Given the description of an element on the screen output the (x, y) to click on. 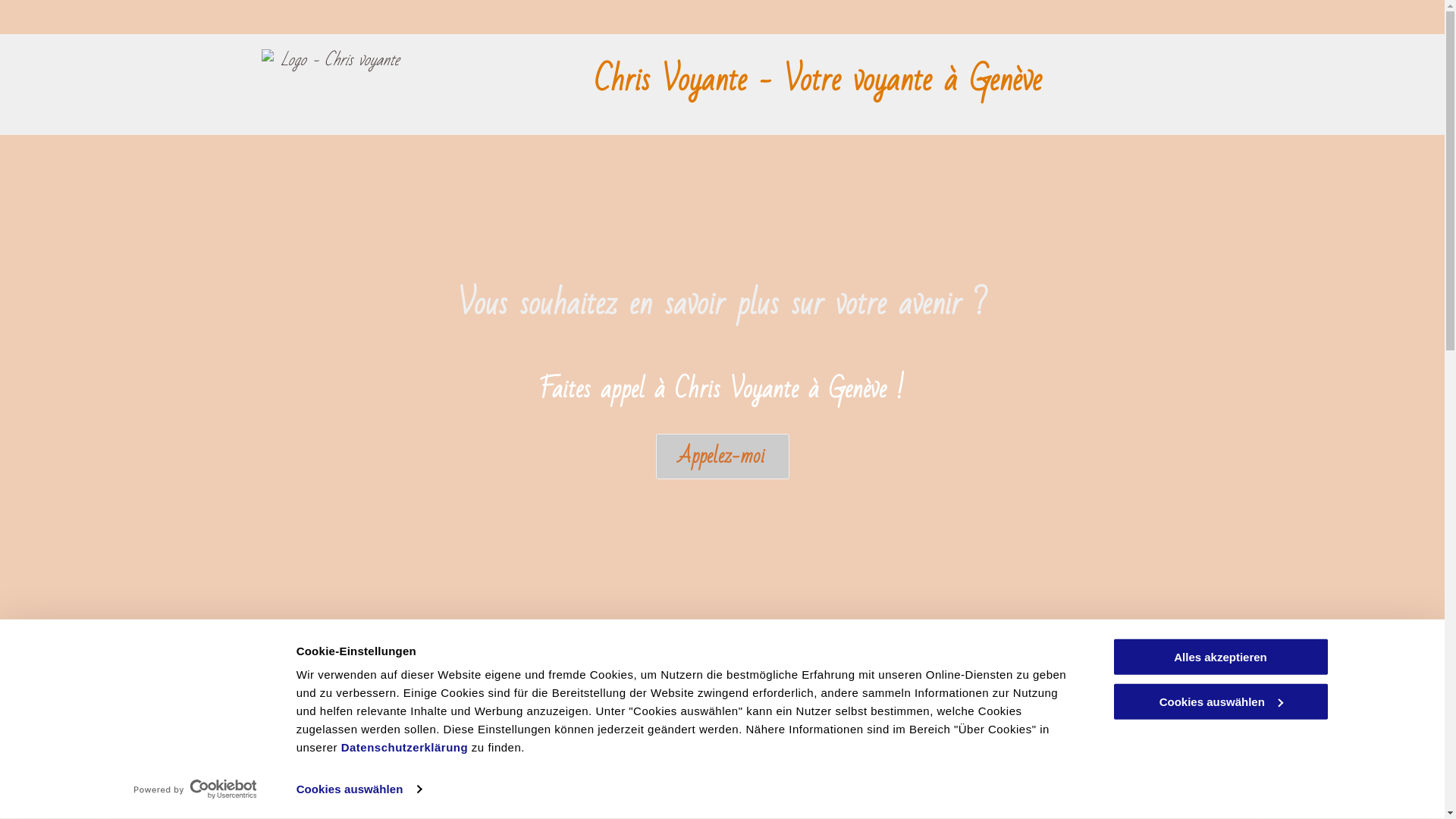
Appelez-moi Element type: text (721, 456)
Alles akzeptieren Element type: text (1219, 656)
